Given the description of an element on the screen output the (x, y) to click on. 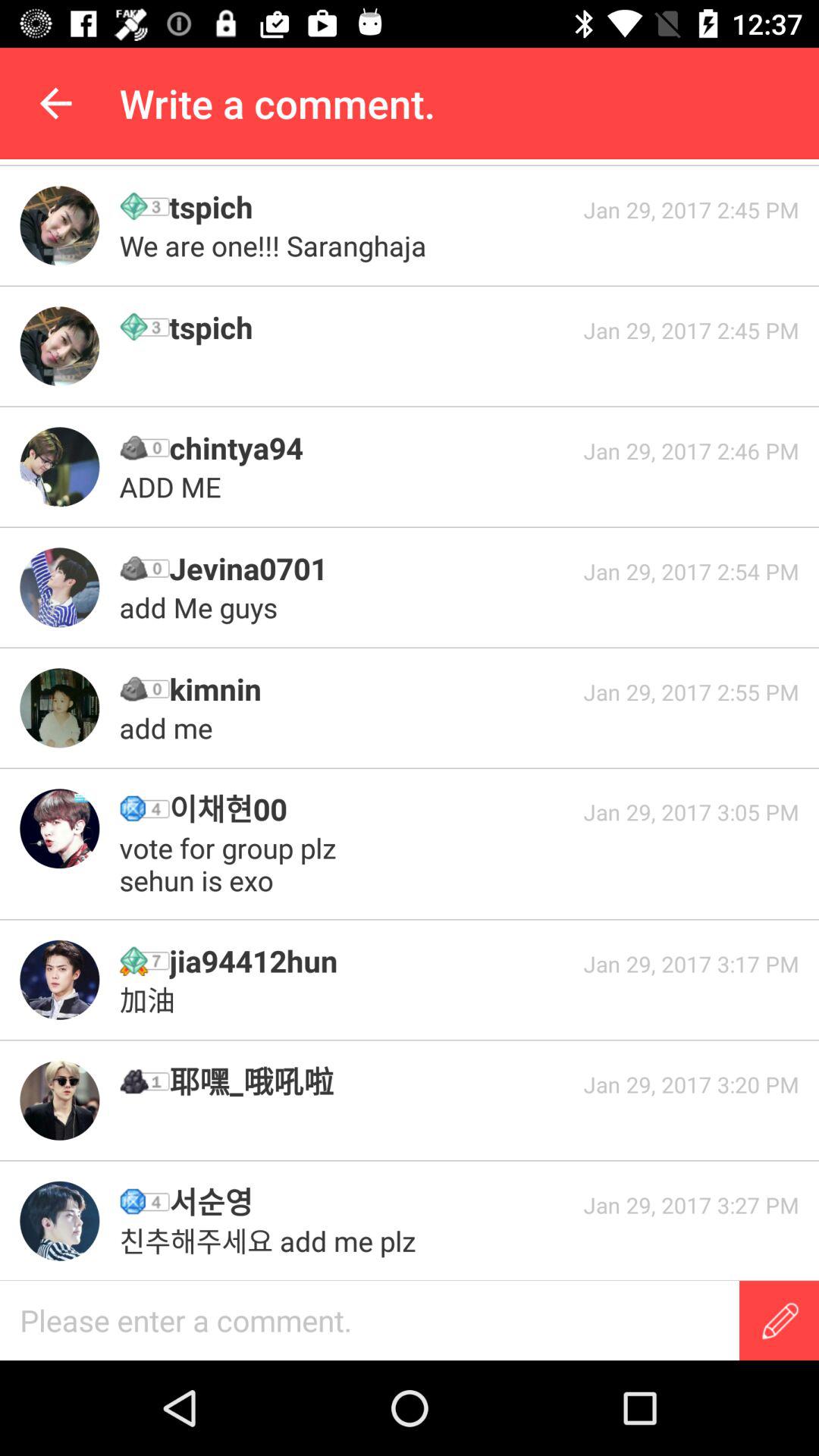
select item to the left of jan 29 2017 (371, 1201)
